Given the description of an element on the screen output the (x, y) to click on. 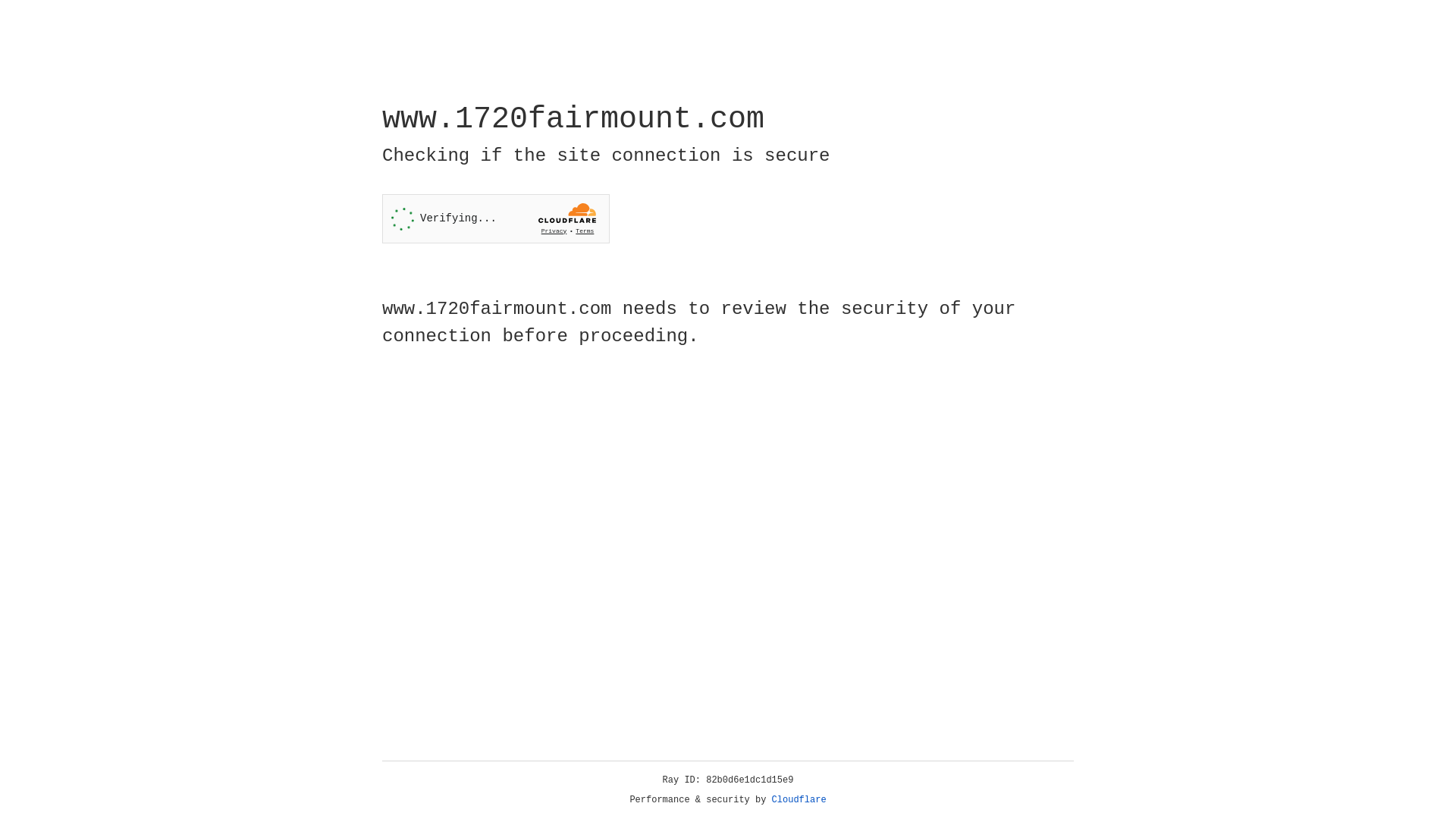
Cloudflare Element type: text (798, 799)
Widget containing a Cloudflare security challenge Element type: hover (495, 218)
